Given the description of an element on the screen output the (x, y) to click on. 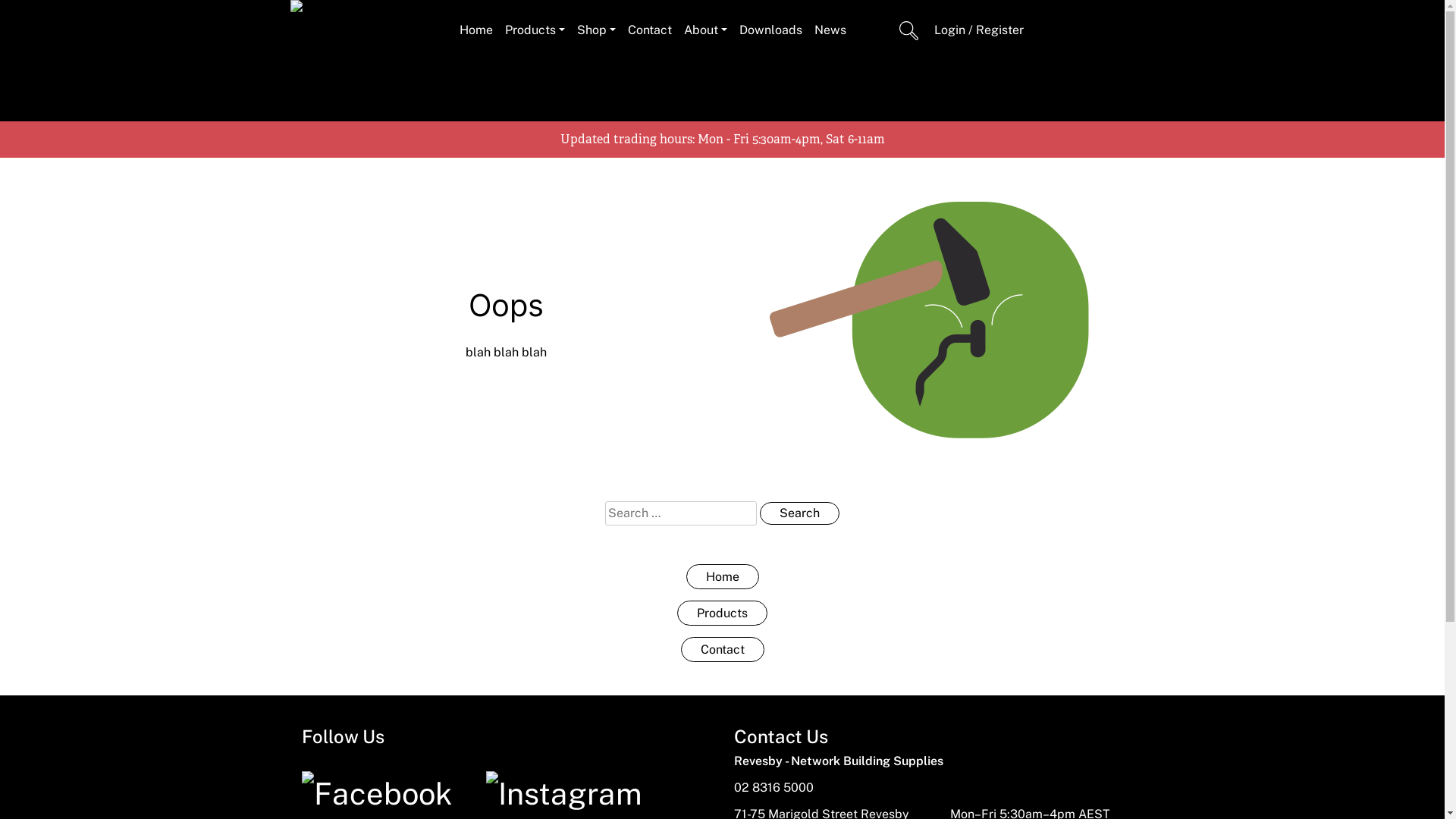
02 8316 5000 Element type: text (773, 787)
Updated trading hours: Mon - Fri 5:30am-4pm, Sat 6-11am Element type: text (721, 139)
Contact Element type: text (649, 30)
Home Element type: text (475, 30)
  Element type: text (871, 30)
Home Element type: text (721, 576)
News Element type: text (830, 30)
Products Element type: text (722, 612)
Shop Element type: text (596, 30)
Products Element type: text (534, 30)
  Element type: text (909, 30)
Contact Element type: text (722, 649)
Downloads Element type: text (770, 30)
Search Element type: text (799, 513)
Login / Register Element type: text (978, 30)
About Element type: text (705, 30)
